Given the description of an element on the screen output the (x, y) to click on. 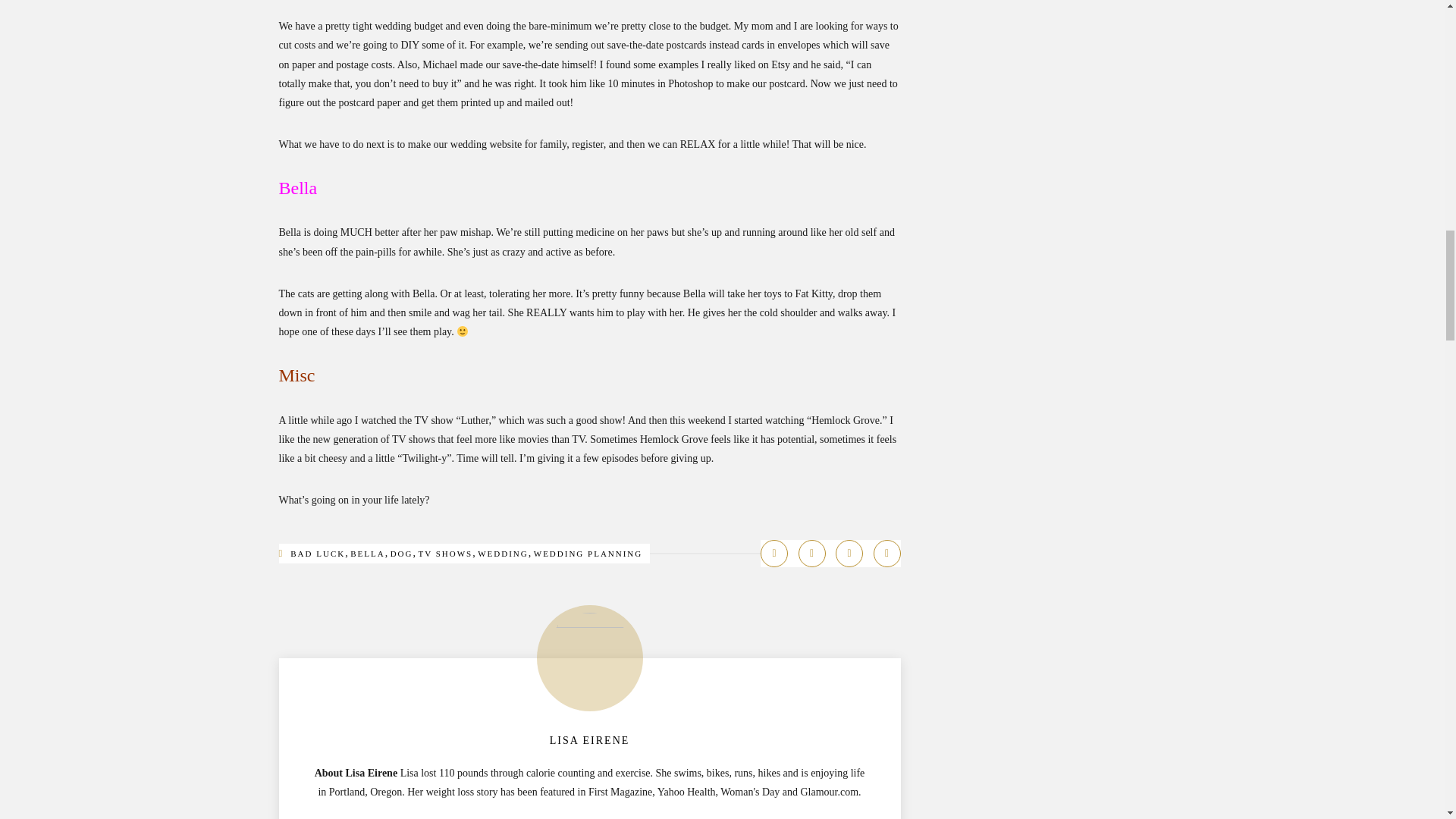
TV SHOWS (444, 552)
BELLA (367, 552)
WEDDING (502, 552)
DOG (401, 552)
WEDDING PLANNING (588, 552)
Click to share this post on Twitter (811, 553)
BAD LUCK (317, 552)
